Given the description of an element on the screen output the (x, y) to click on. 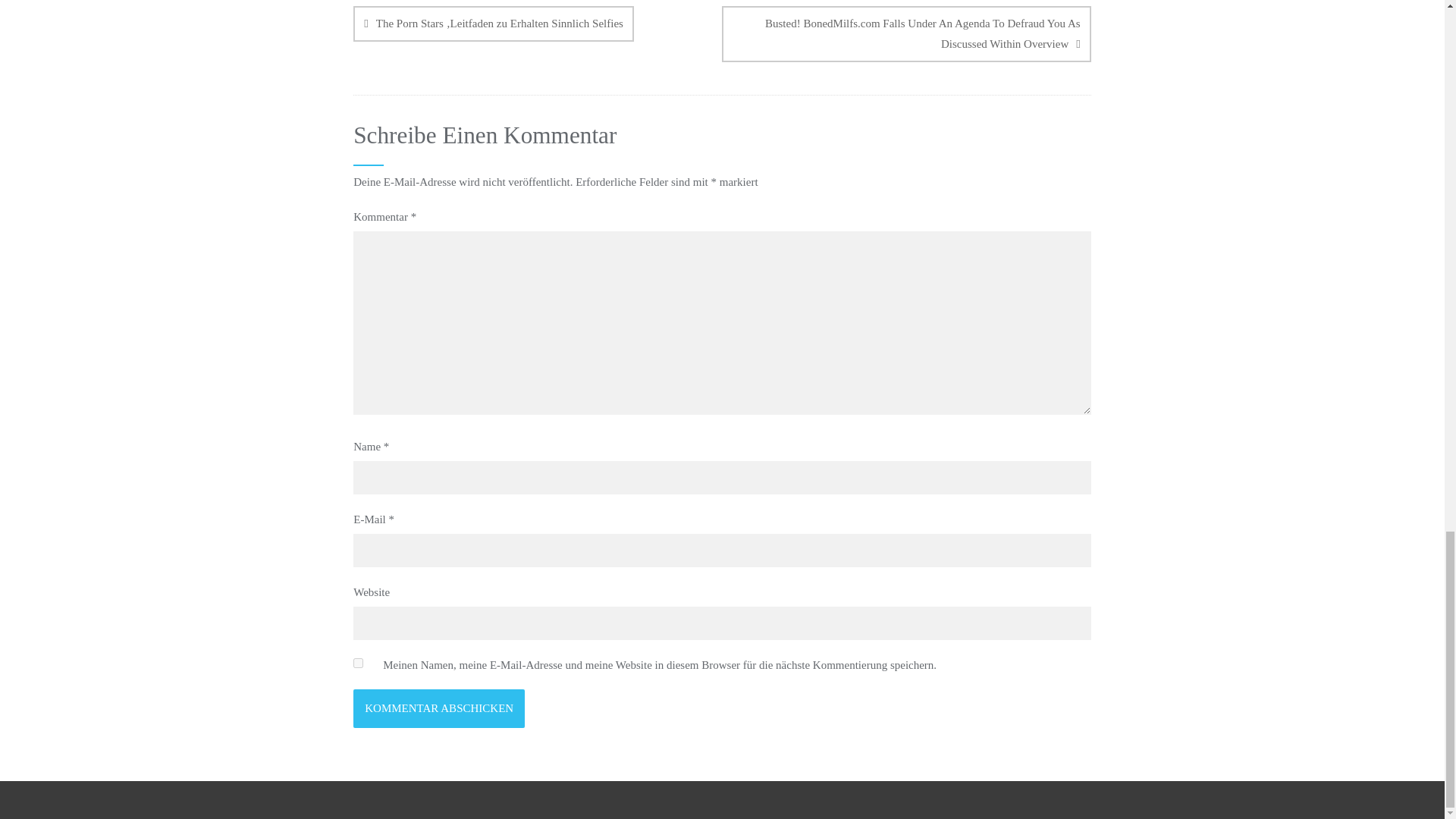
yes (357, 662)
Kommentar abschicken (438, 708)
Kommentar abschicken (438, 708)
